Given the description of an element on the screen output the (x, y) to click on. 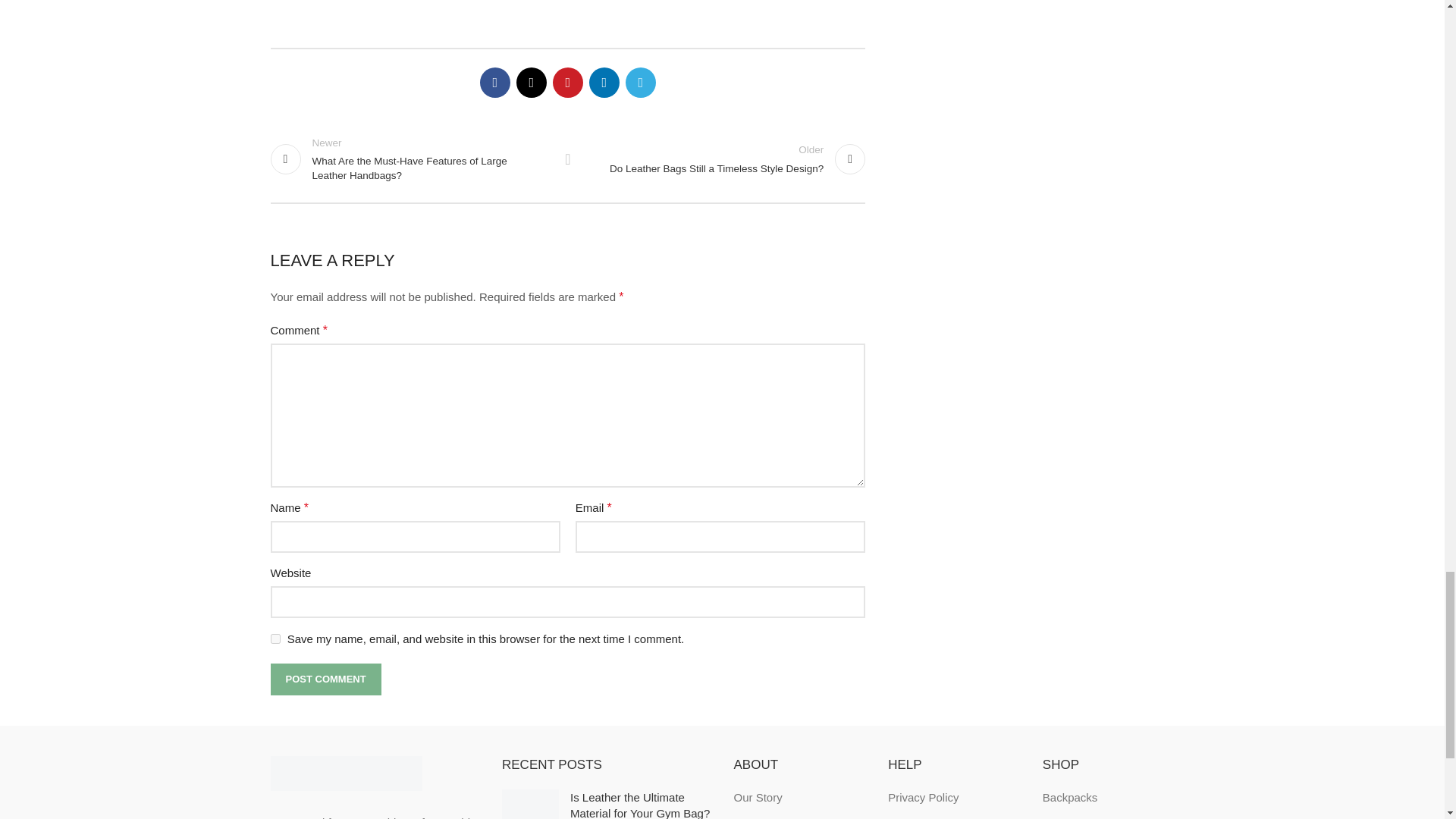
Post Comment (324, 679)
yes (723, 158)
Post Comment (274, 638)
Back to list (324, 679)
